Given the description of an element on the screen output the (x, y) to click on. 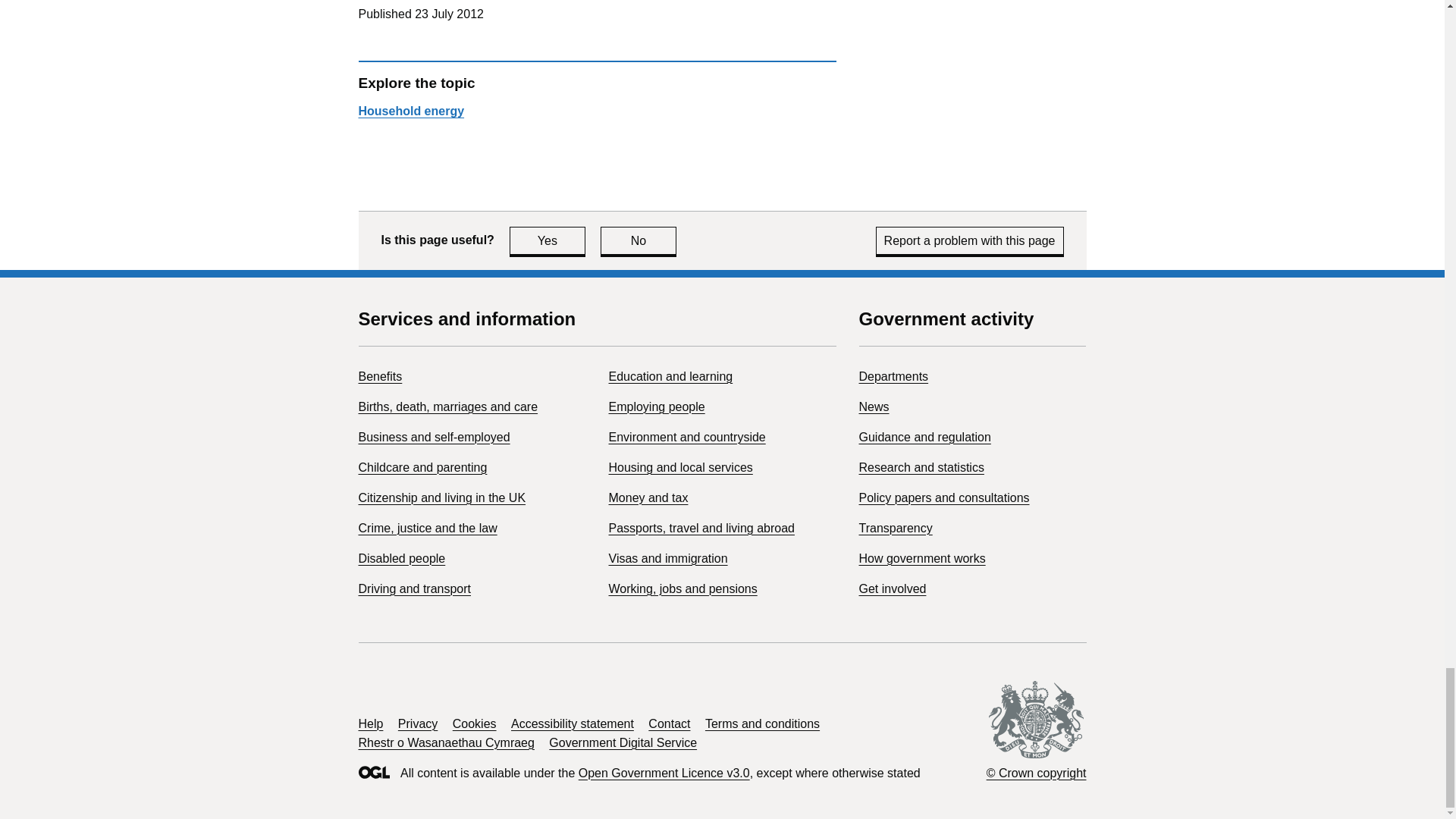
How government works (922, 558)
Money and tax (647, 497)
Report a problem with this page (970, 240)
Childcare and parenting (422, 467)
Environment and countryside (686, 436)
Research and statistics (921, 467)
Driving and transport (414, 588)
Working, jobs and pensions (638, 240)
Education and learning (682, 588)
News (547, 240)
Citizenship and living in the UK (670, 376)
Get involved (873, 406)
Business and self-employed (441, 497)
